Given the description of an element on the screen output the (x, y) to click on. 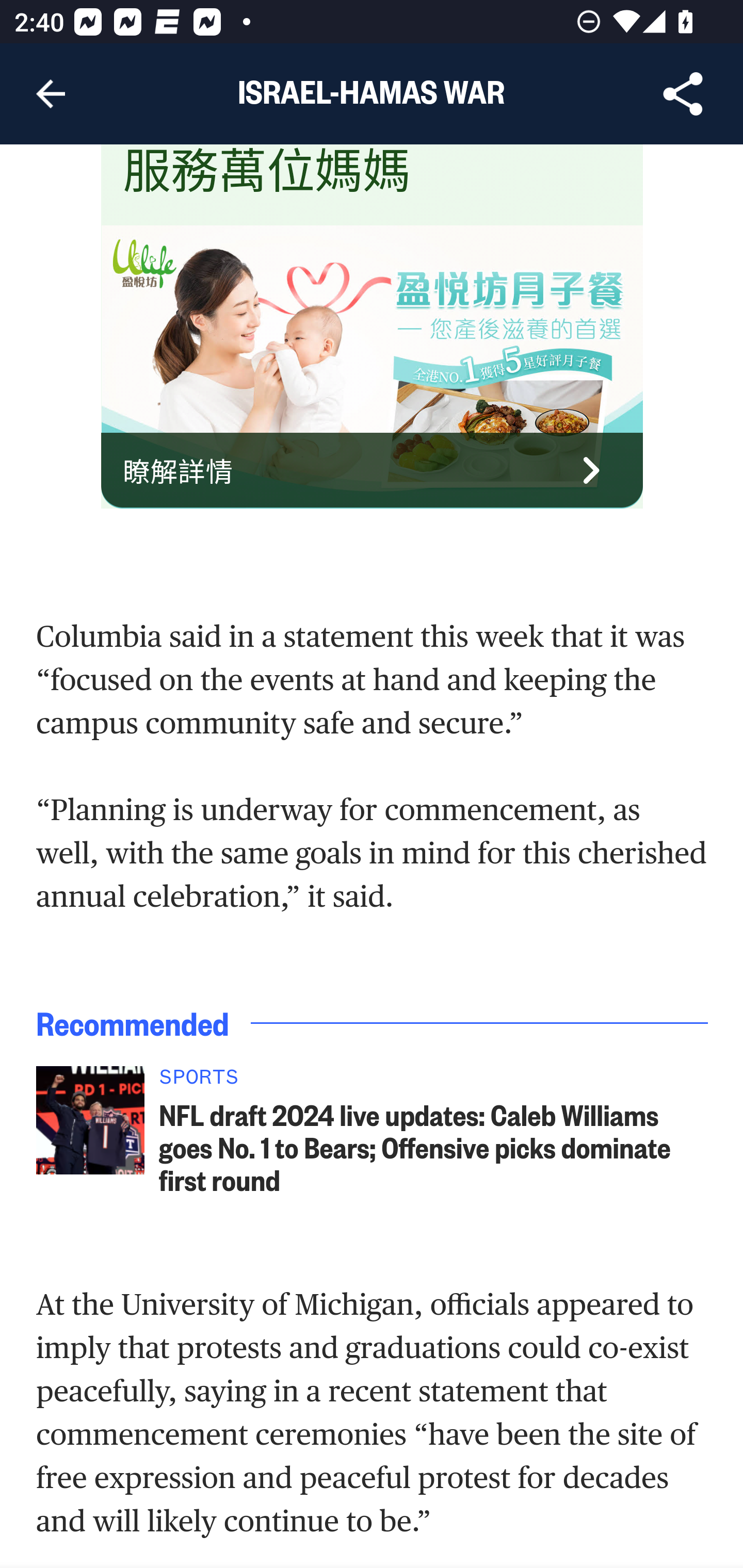
Navigate up (50, 93)
Share Article, button (683, 94)
月子餐香港最專業 服務萬位媽媽 服務萬位媽媽 (314, 173)
瞭解詳情 (372, 470)
SPORTS (434, 1082)
nfl-draft-2024-live-updates-rcna148996 (90, 1121)
